Given the description of an element on the screen output the (x, y) to click on. 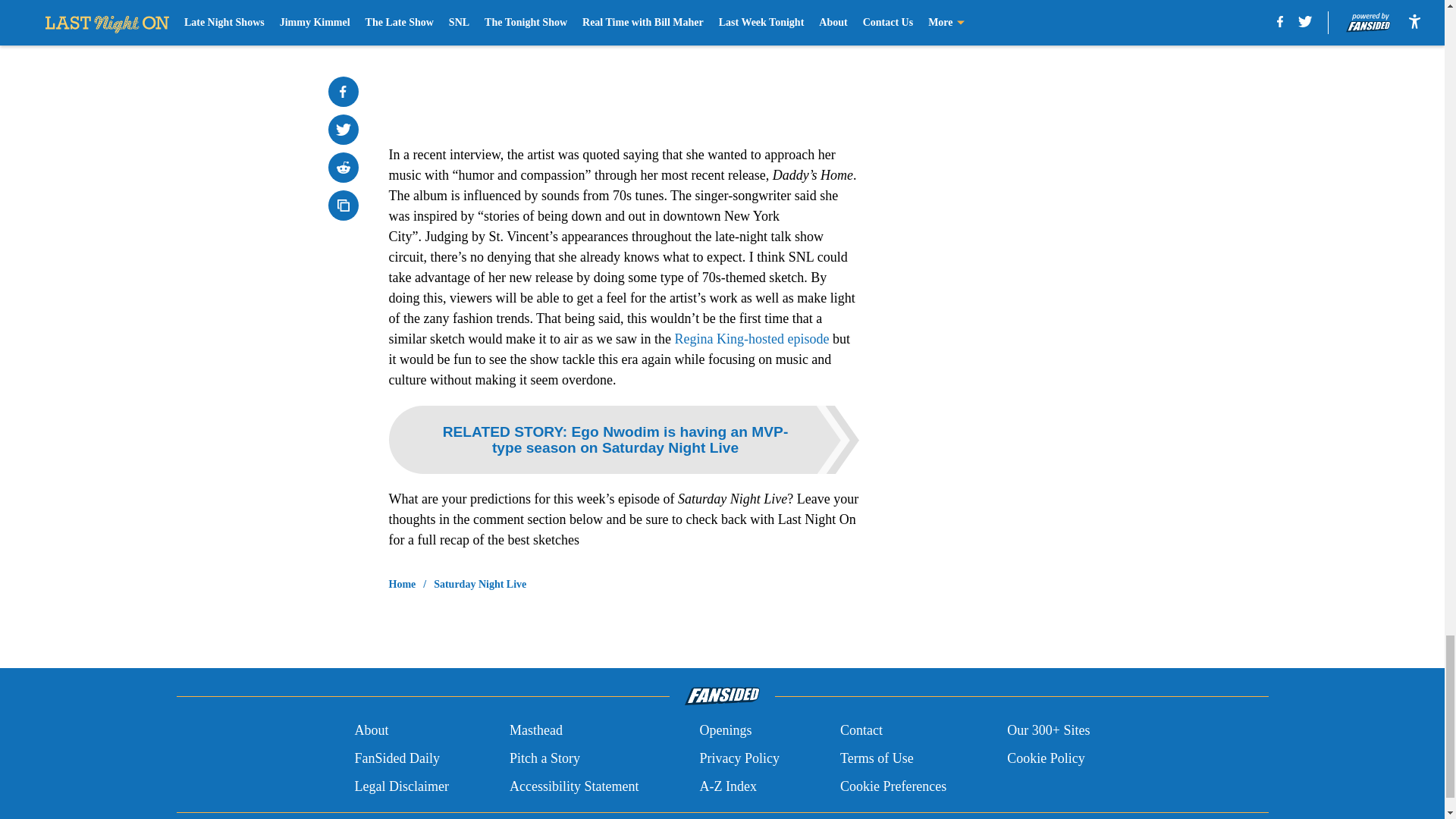
Masthead (535, 730)
Home (401, 584)
Openings (724, 730)
Contact (861, 730)
Regina King-hosted episode (751, 338)
Saturday Night Live (479, 584)
About (370, 730)
